Given the description of an element on the screen output the (x, y) to click on. 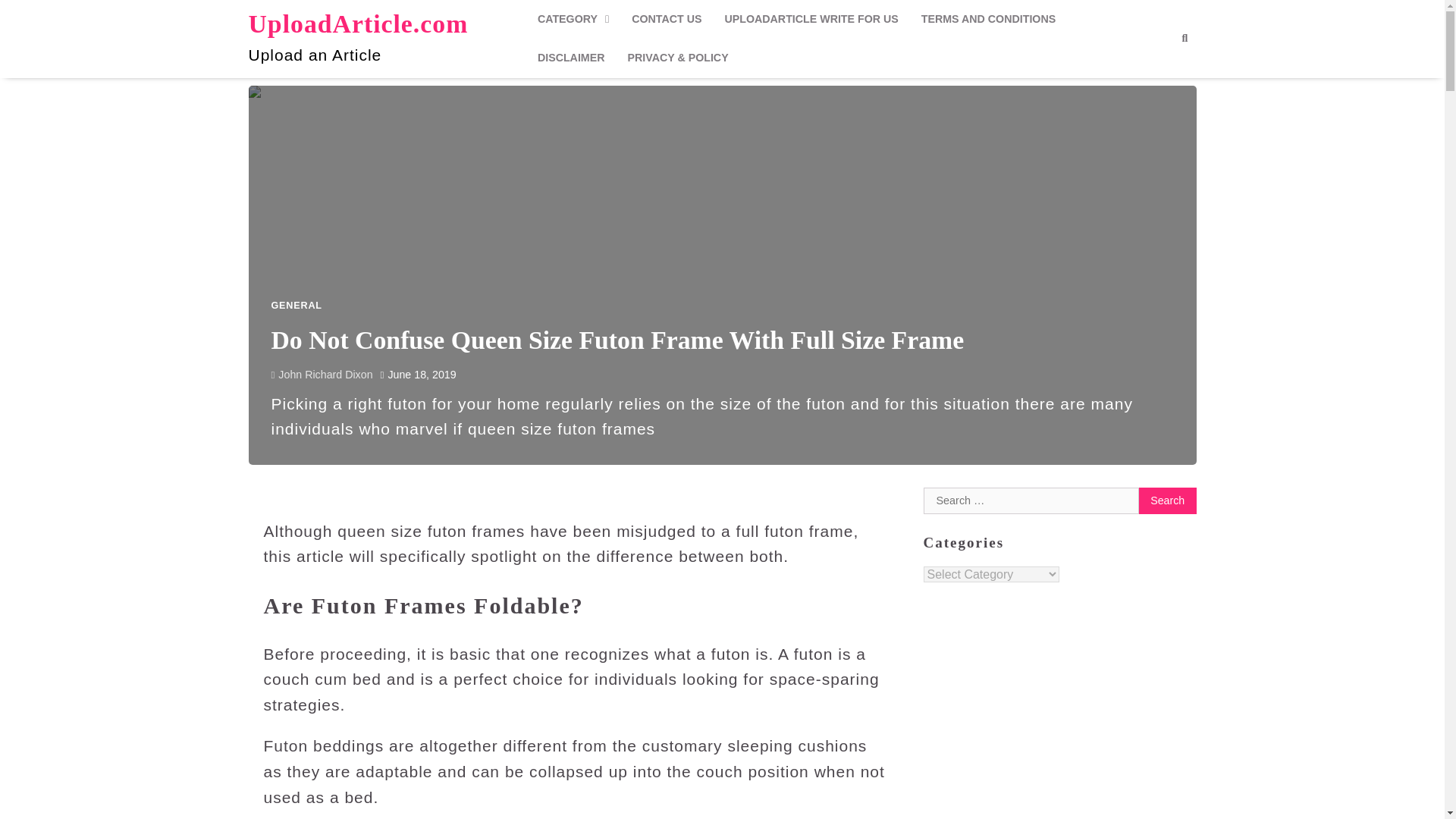
John Richard Dixon (321, 374)
Search (1167, 501)
Search (1167, 501)
UploadArticle.com (358, 23)
CONTACT US (666, 19)
TERMS AND CONDITIONS (988, 19)
DISCLAIMER (570, 57)
Search (1184, 38)
UPLOADARTICLE WRITE FOR US (810, 19)
Search (1157, 74)
GENERAL (295, 305)
CATEGORY (572, 19)
